Given the description of an element on the screen output the (x, y) to click on. 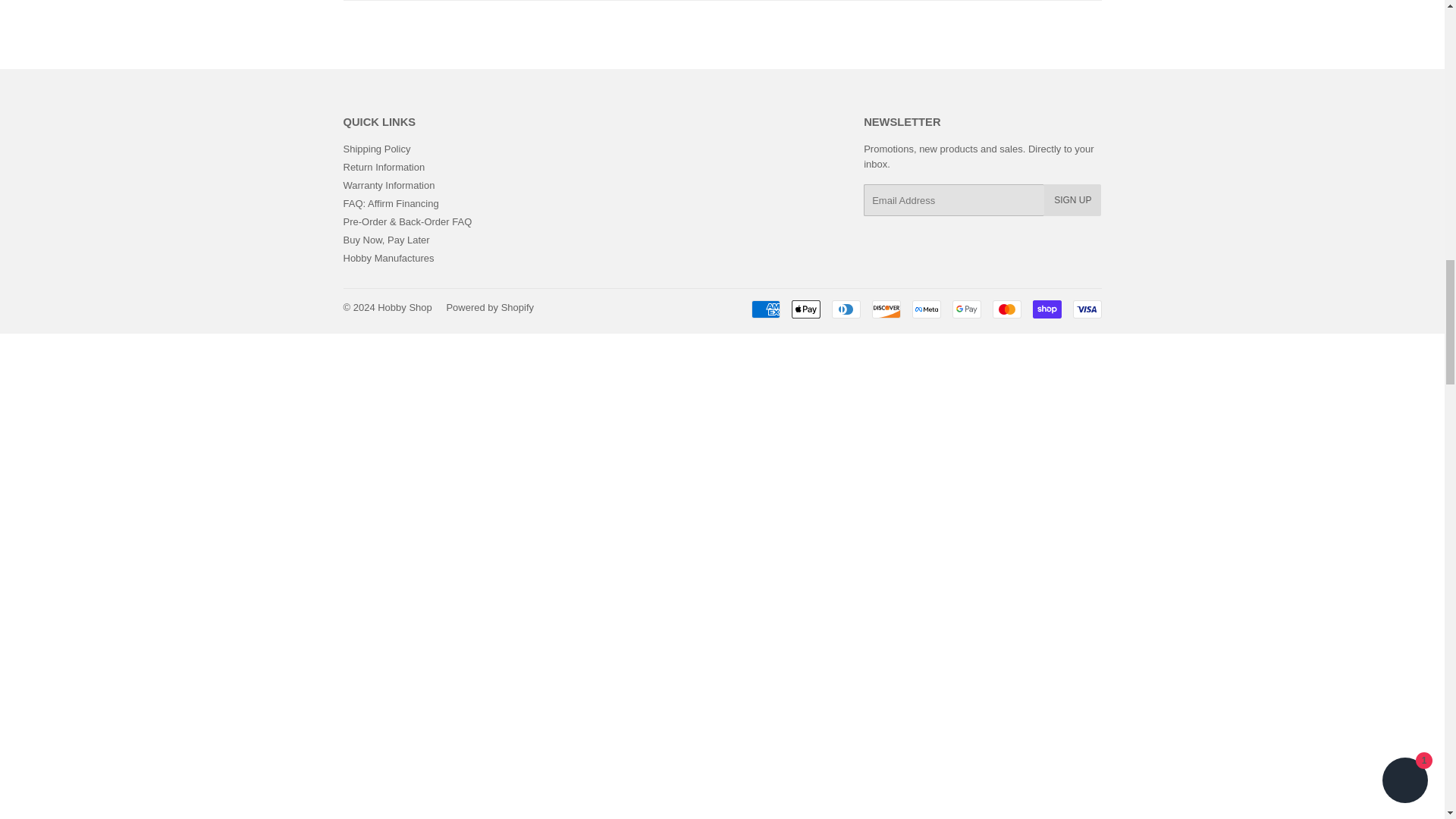
Apple Pay (806, 309)
Mastercard (1005, 309)
Google Pay (966, 309)
Diners Club (845, 309)
American Express (764, 309)
Meta Pay (925, 309)
Visa (1085, 309)
Shop Pay (1046, 309)
Discover (886, 309)
